Given the description of an element on the screen output the (x, y) to click on. 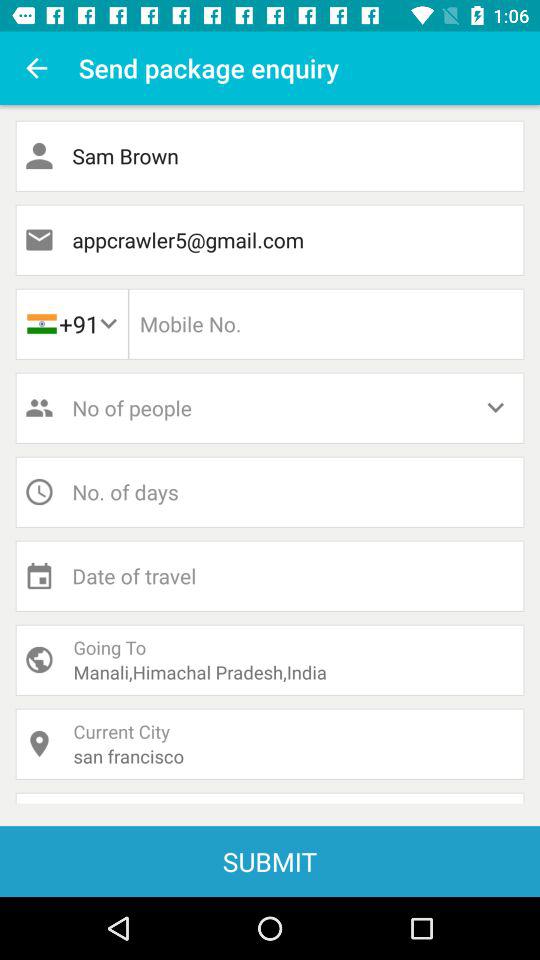
go back (36, 68)
